Given the description of an element on the screen output the (x, y) to click on. 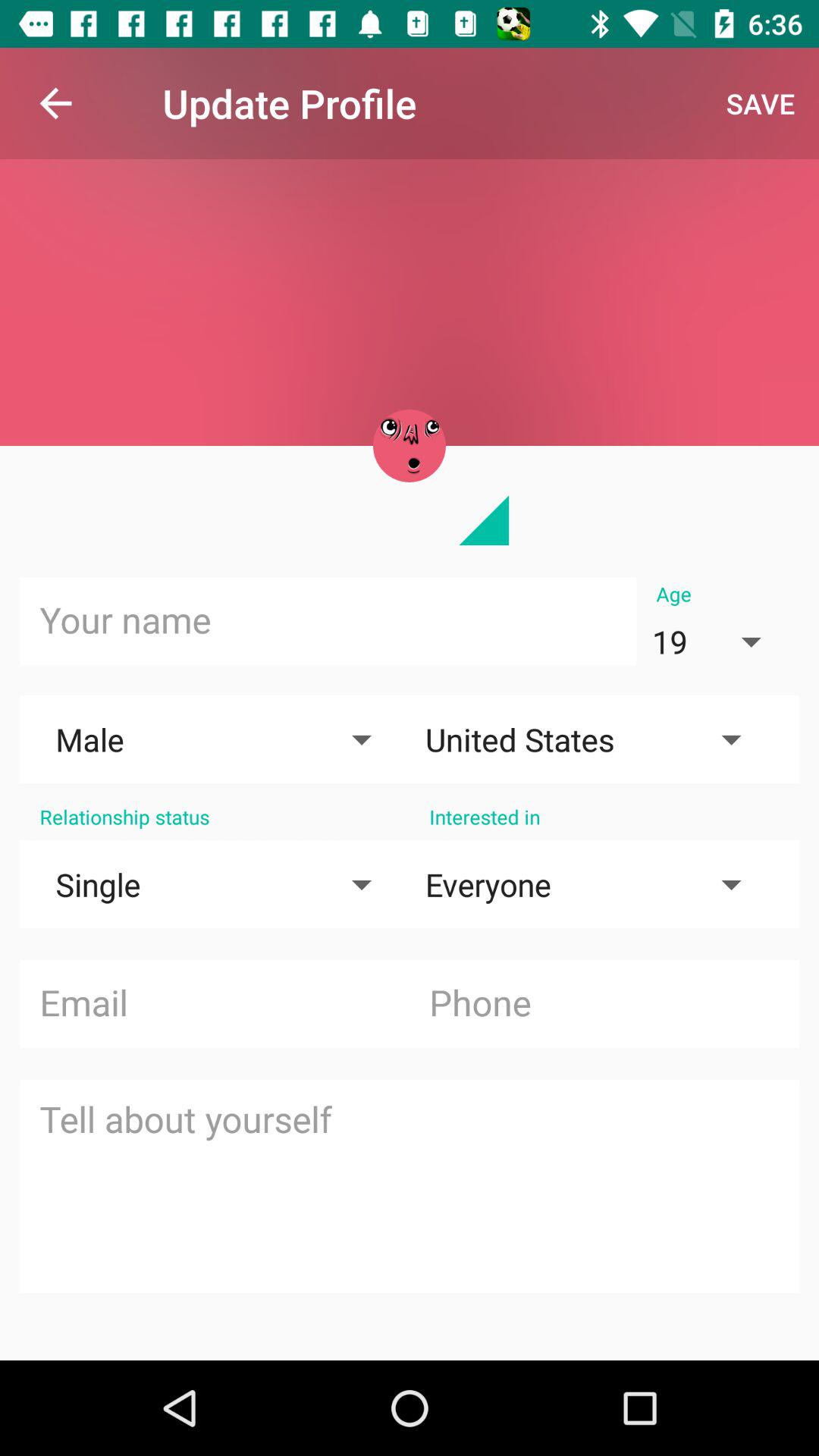
enter phone number (604, 1004)
